Given the description of an element on the screen output the (x, y) to click on. 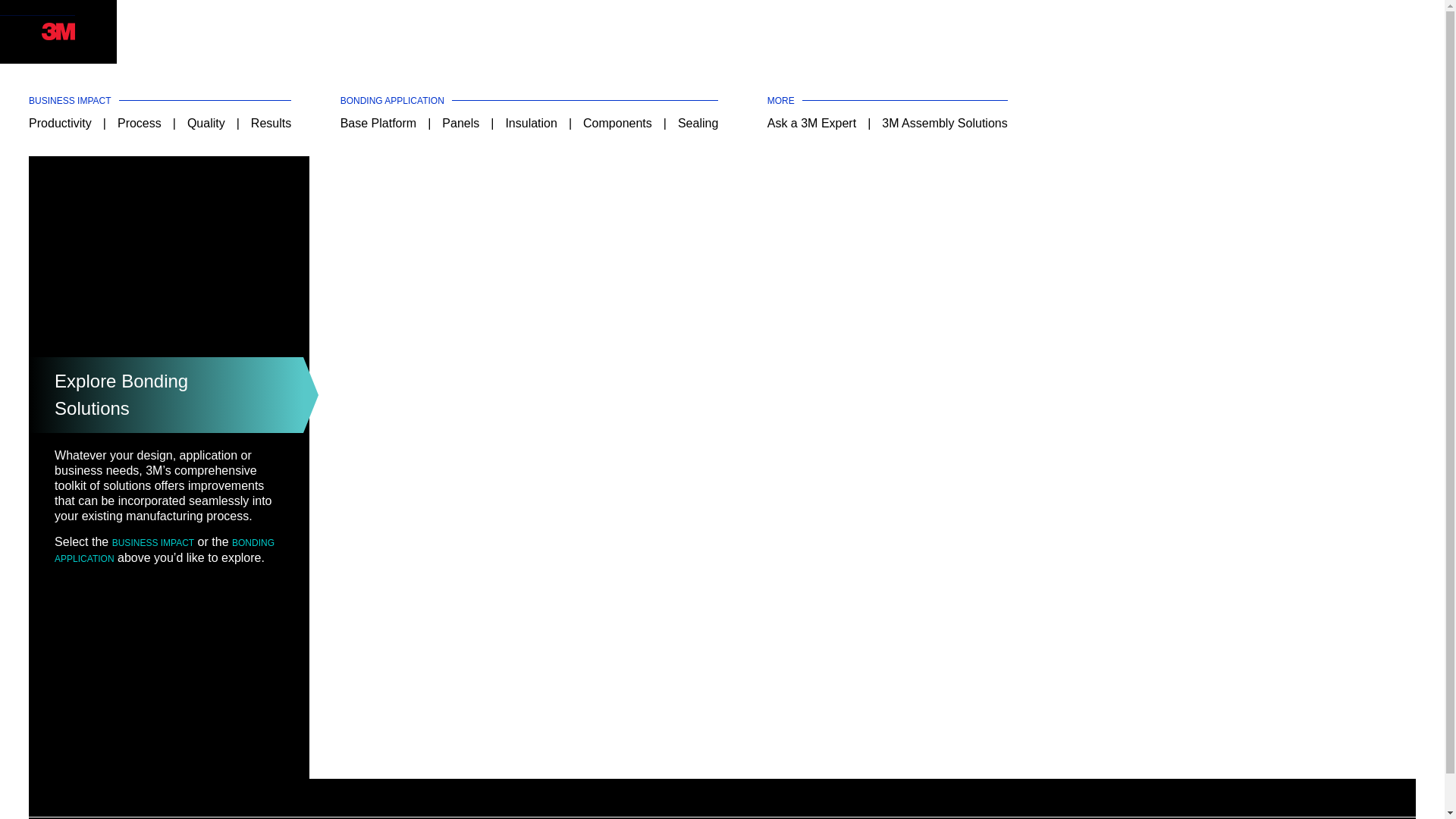
3M Assembly Solutions
(Opens new window) Element type: text (944, 122)
